Given the description of an element on the screen output the (x, y) to click on. 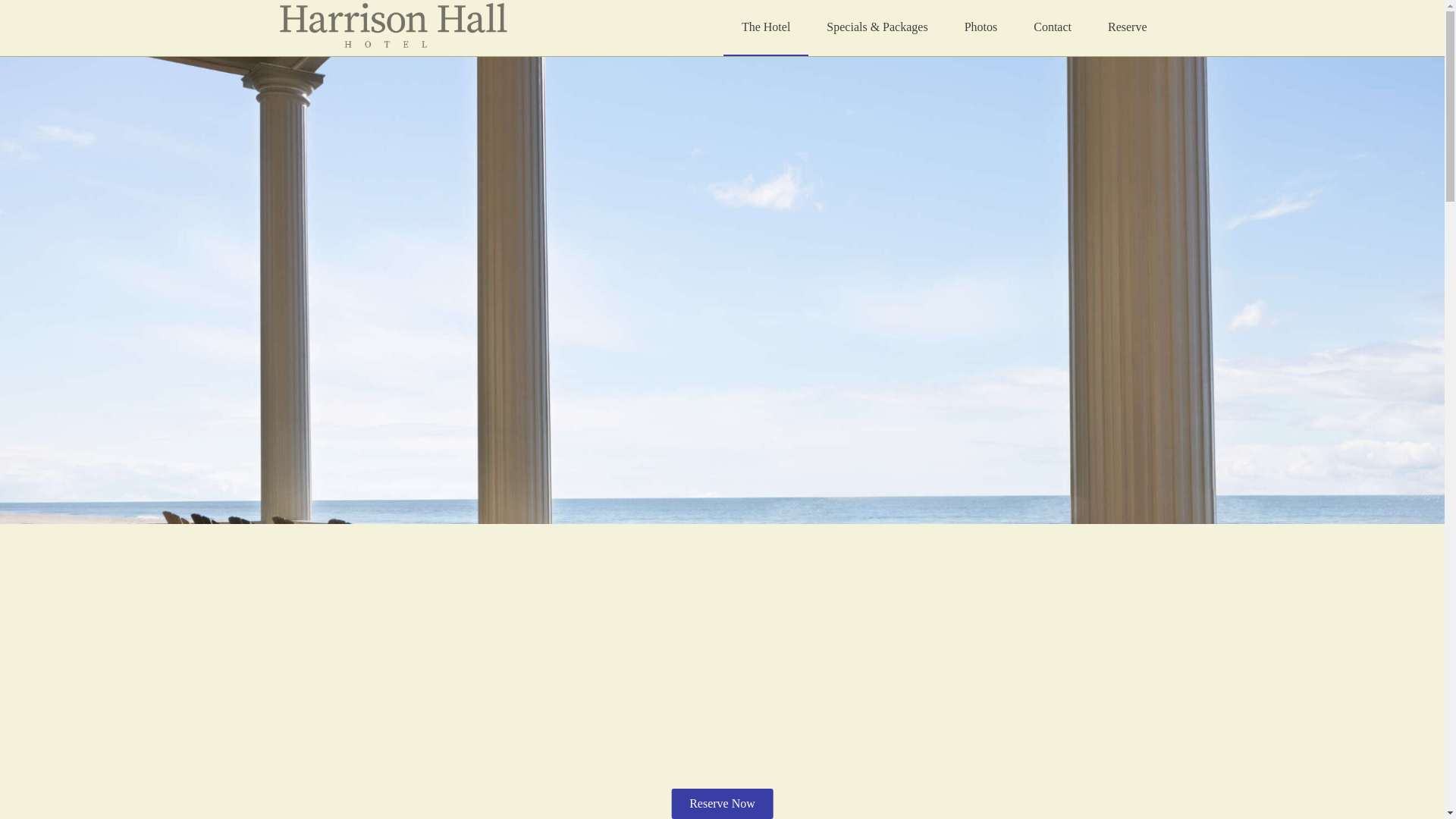
Contact (1051, 27)
Reserve (1127, 27)
Reserve Now (722, 803)
Photos (981, 27)
The Hotel (765, 28)
